Given the description of an element on the screen output the (x, y) to click on. 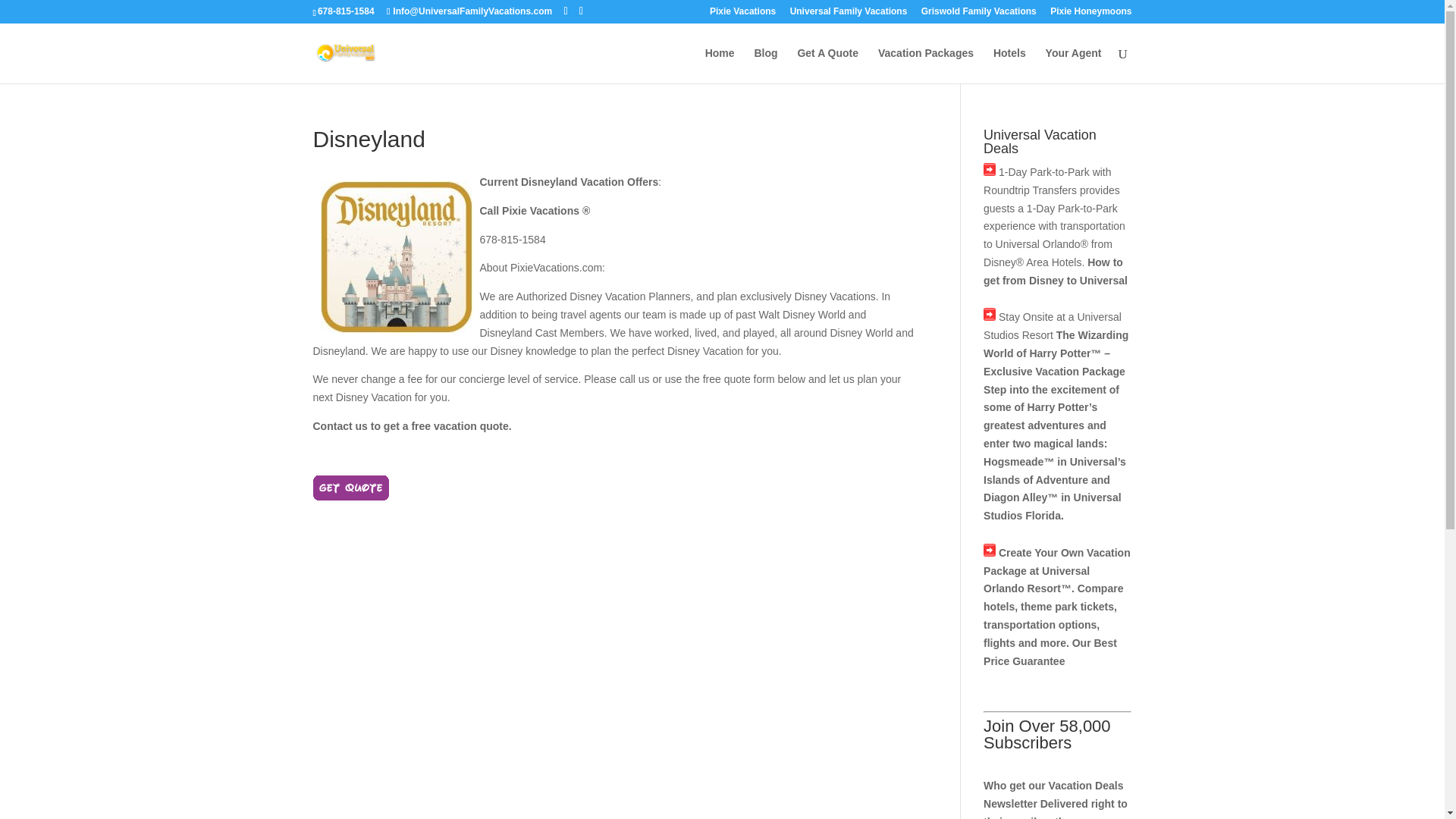
Universal Family Vacations (848, 14)
Your Agent (1073, 65)
Pixie Vacations (743, 14)
Pixie Honeymoons (1090, 14)
get a quote (350, 487)
Hotels (1009, 65)
Disneyland Vacation Information (395, 256)
Get A Quote (827, 65)
Blog (765, 65)
Home (719, 65)
Vacation Packages (925, 65)
Griswold Family Vacations (978, 14)
How to get from Disney to Universal (1055, 271)
